Given the description of an element on the screen output the (x, y) to click on. 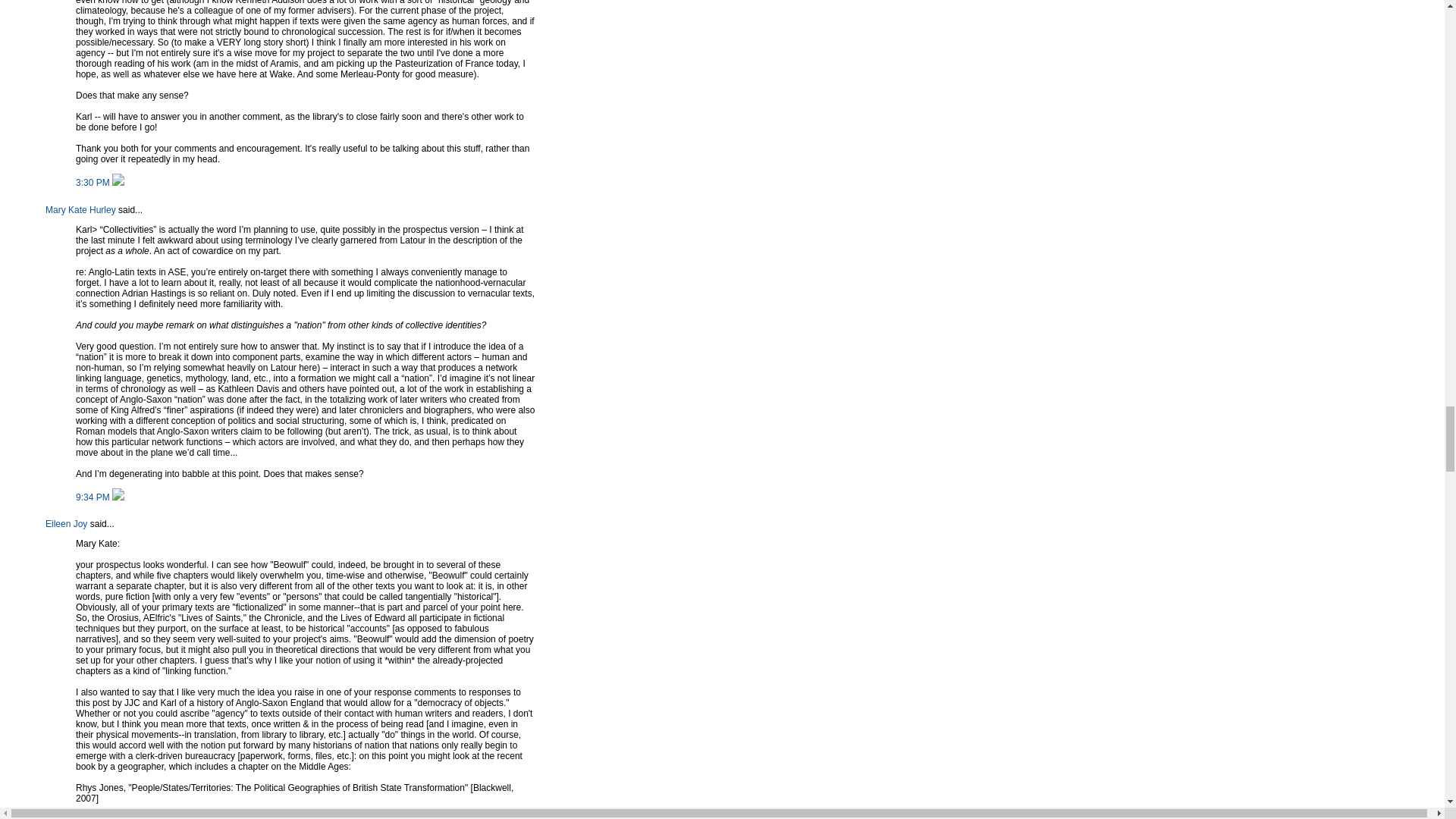
Delete Comment (117, 182)
comment permalink (93, 182)
comment permalink (93, 497)
